Given the description of an element on the screen output the (x, y) to click on. 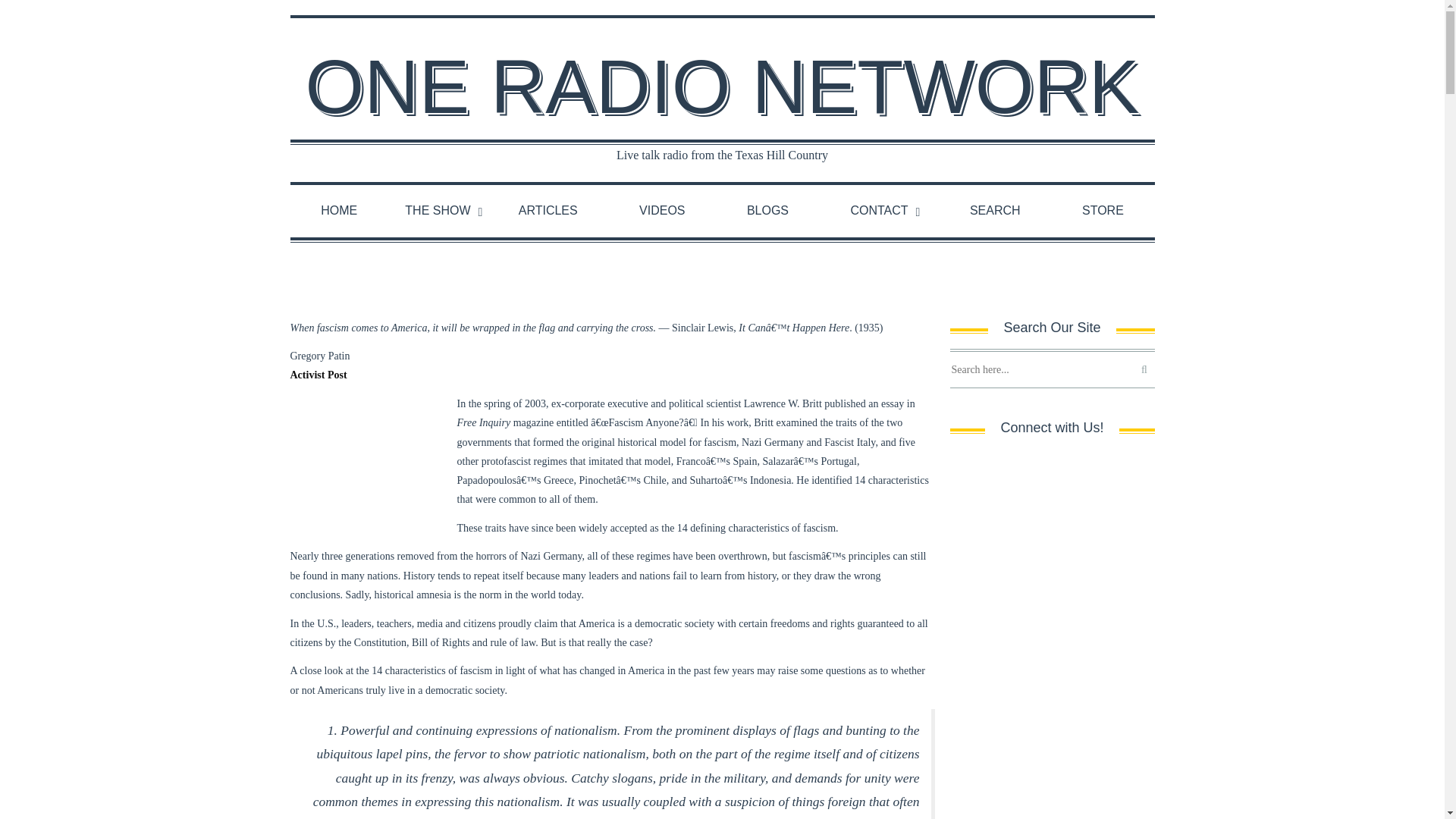
HOME (338, 211)
THE SHOW (437, 211)
BLOGS (767, 211)
Go back to home (721, 86)
Connect with us on Telegram (1021, 468)
ARTICLES (547, 211)
VIDEOS (662, 211)
STORE (1102, 211)
Connect with us on Parler (1123, 468)
SEARCH (995, 211)
